Given the description of an element on the screen output the (x, y) to click on. 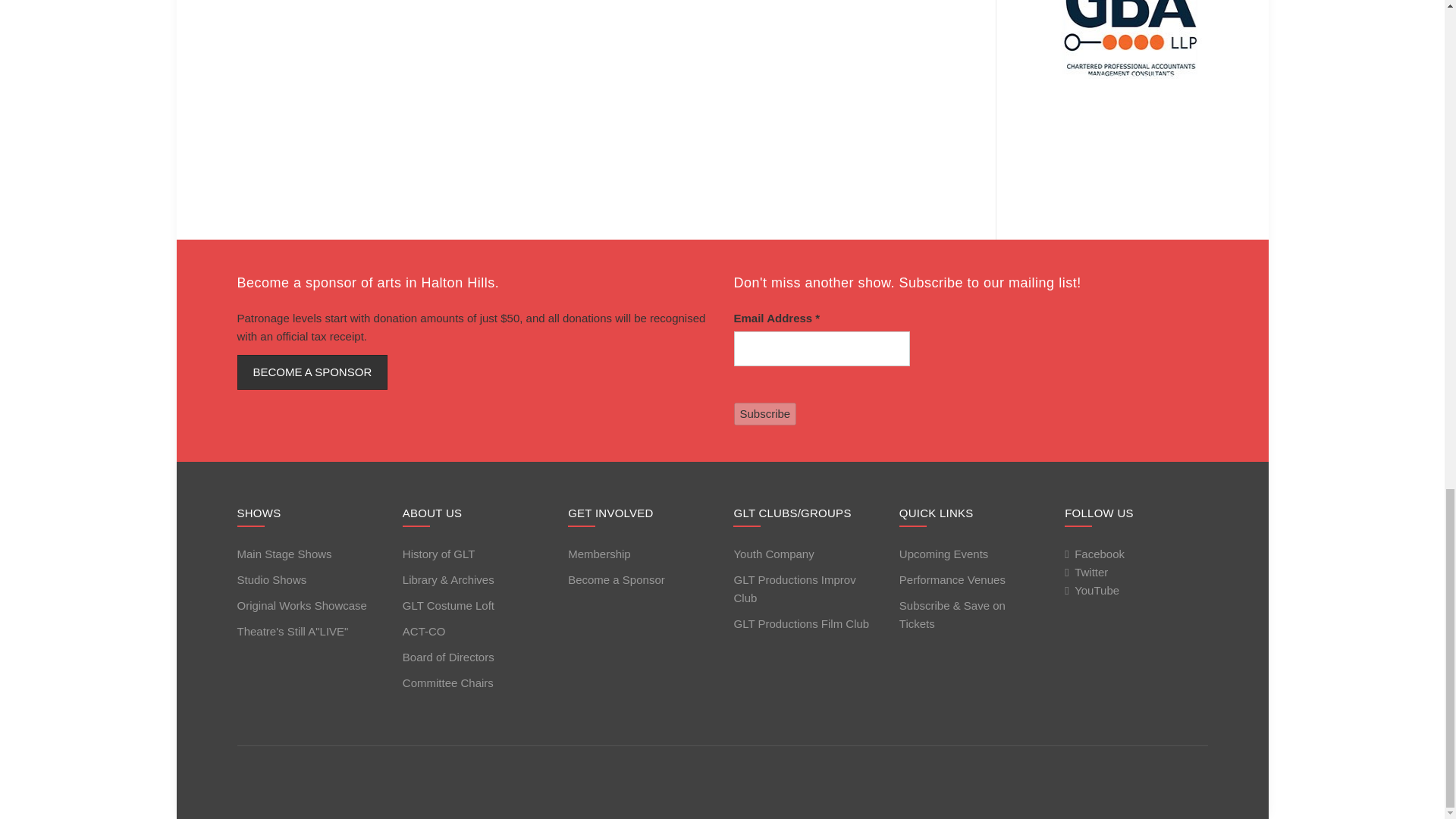
Youtube (1091, 593)
Facebook (1094, 557)
Twitter (1086, 575)
Subscribe (764, 413)
Sponsor (311, 371)
